Given the description of an element on the screen output the (x, y) to click on. 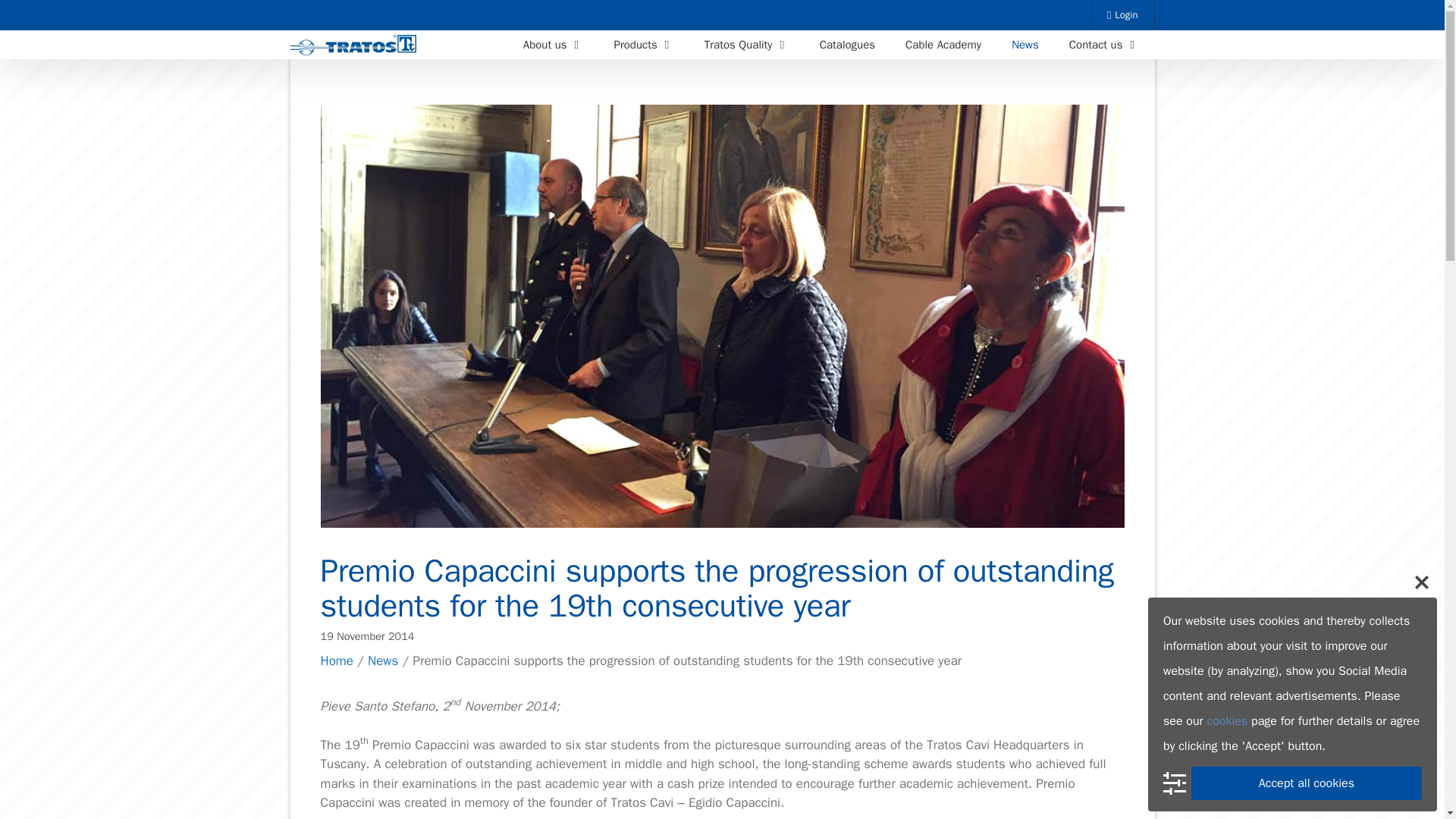
Login (1123, 15)
Tratos Group (356, 45)
Products (643, 44)
Tratos Group (352, 45)
Tratos Quality (746, 44)
About us (553, 44)
